Given the description of an element on the screen output the (x, y) to click on. 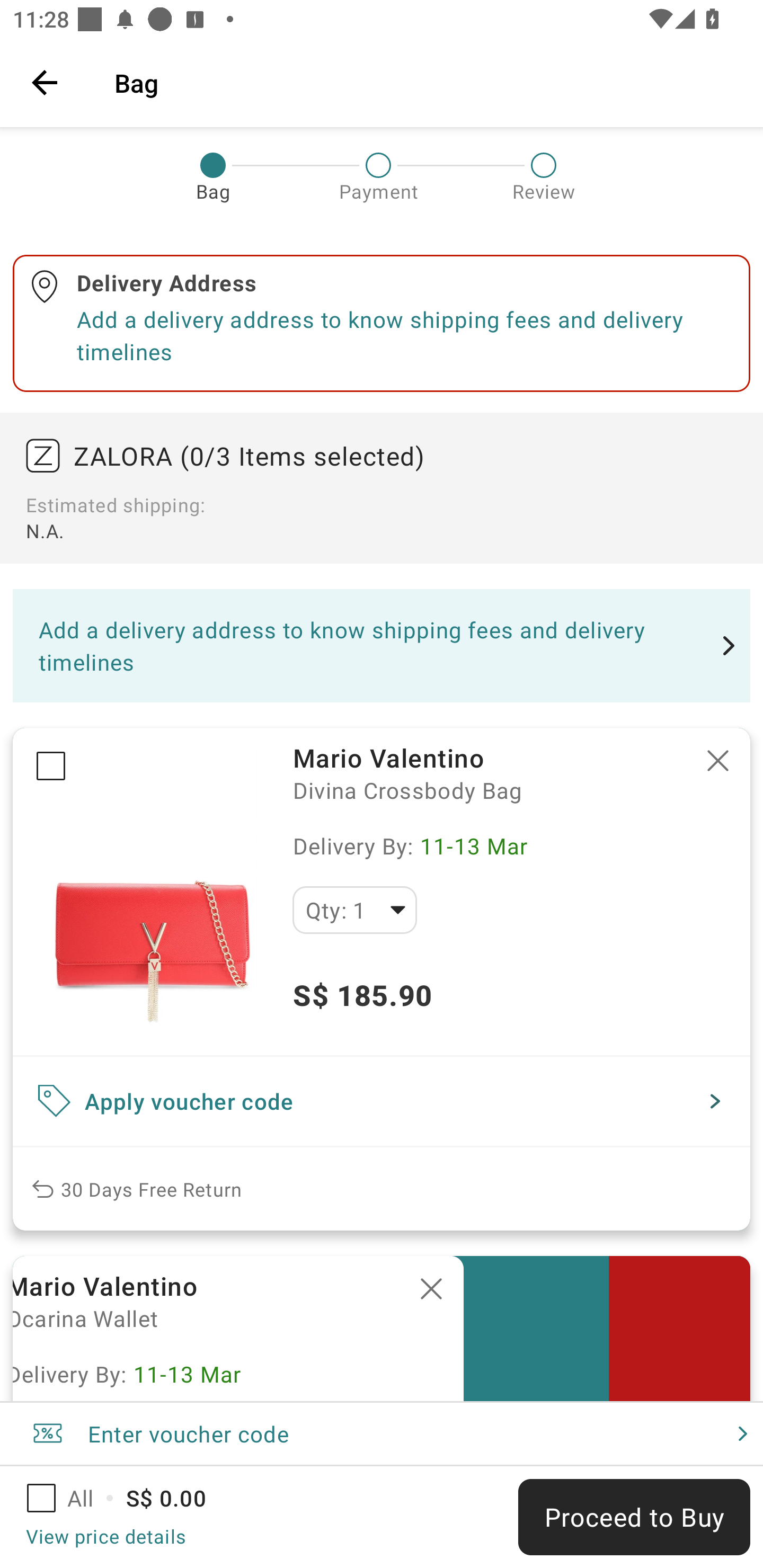
Navigate up (44, 82)
Bag (426, 82)
Qty: 1 (354, 909)
Apply voucher code (381, 1101)
Enter voucher code (381, 1433)
All (72, 1497)
Proceed to Buy (634, 1516)
View price details (105, 1535)
